Given the description of an element on the screen output the (x, y) to click on. 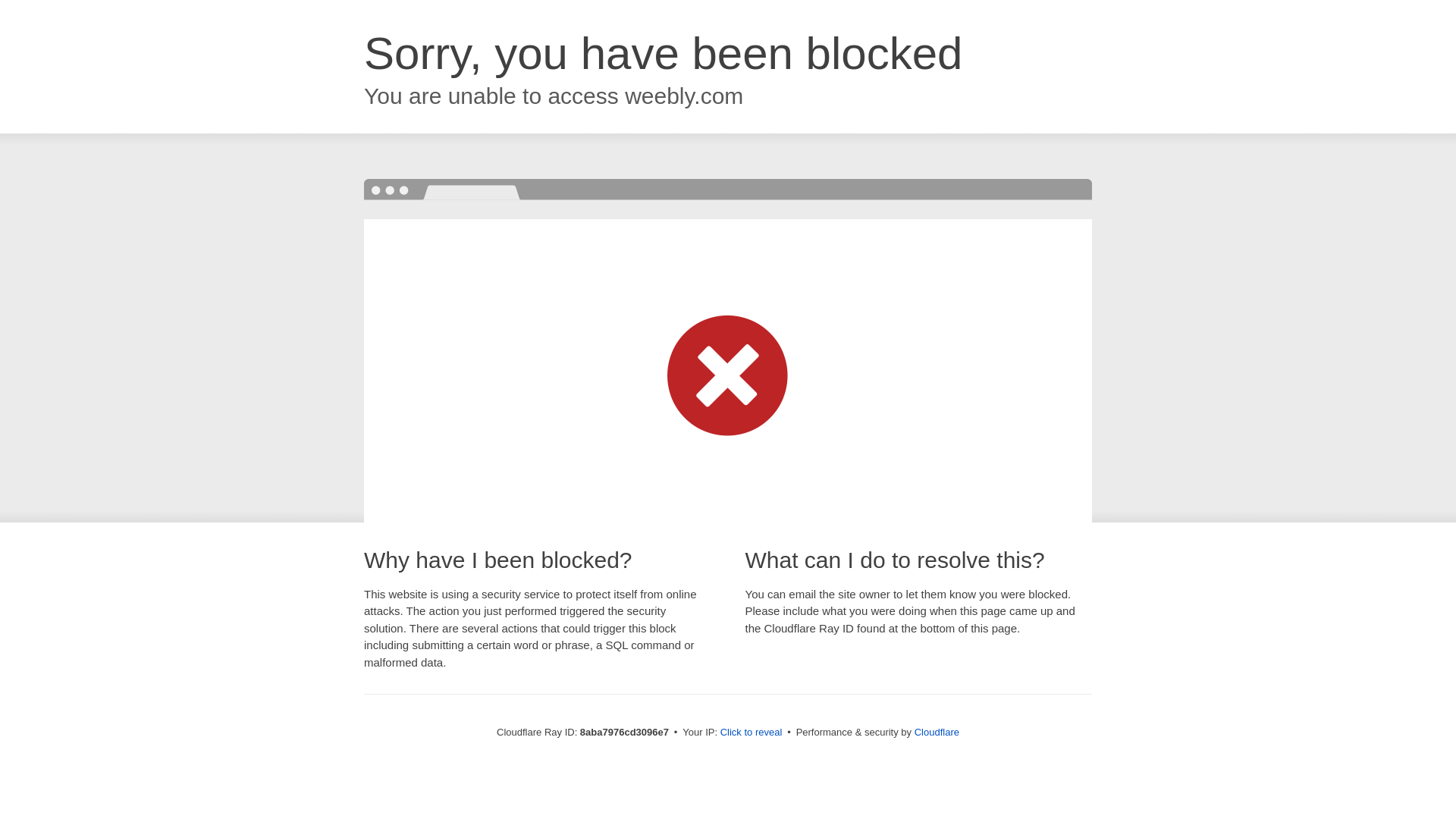
Click to reveal (751, 732)
Cloudflare (936, 731)
